Given the description of an element on the screen output the (x, y) to click on. 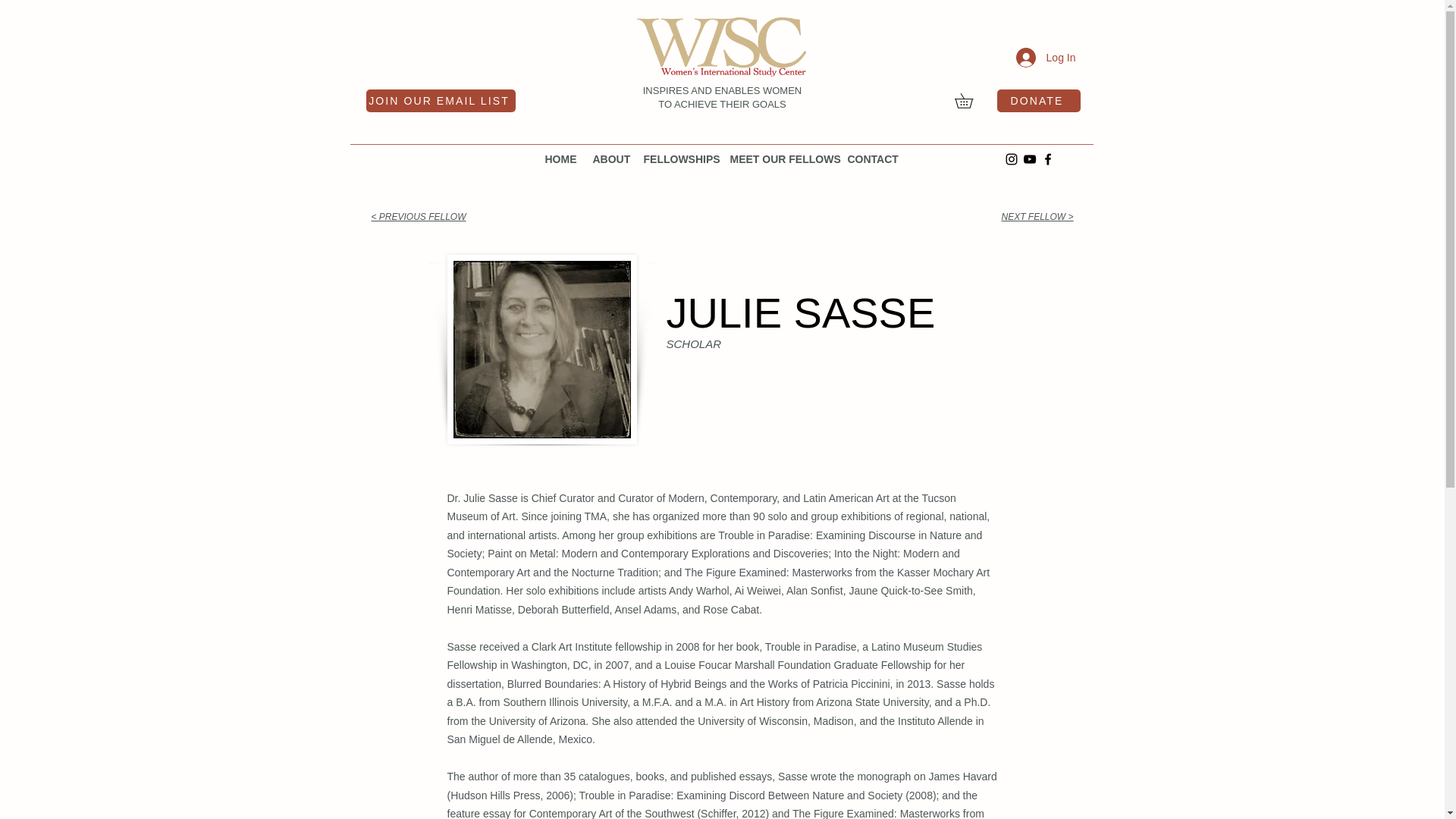
Log In (1046, 57)
CONTACT (872, 159)
JOIN OUR EMAIL LIST (440, 100)
HOME (561, 159)
MEET OUR FELLOWS (781, 159)
DONATE (1037, 100)
